Given the description of an element on the screen output the (x, y) to click on. 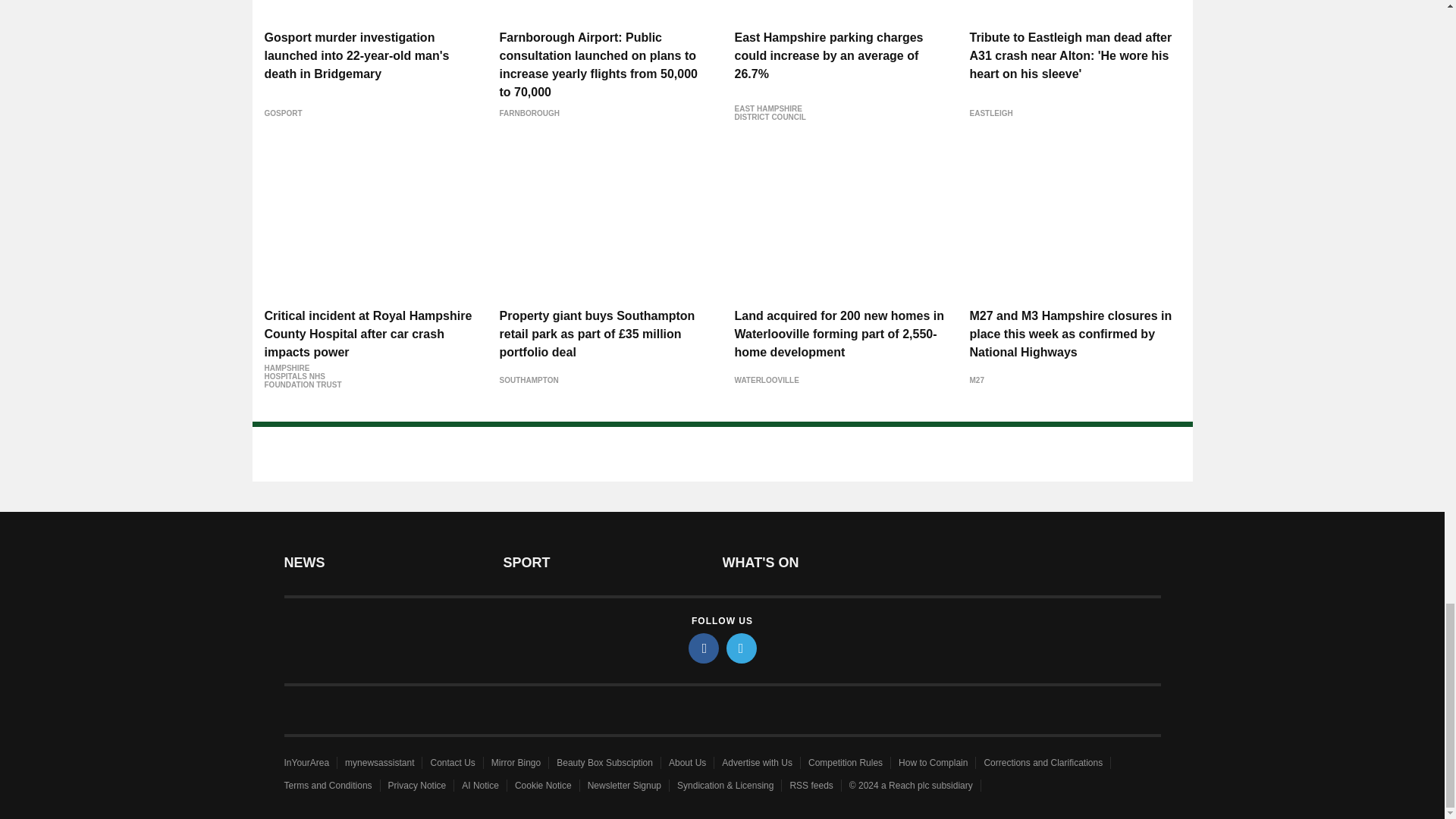
facebook (703, 648)
twitter (741, 648)
